Given the description of an element on the screen output the (x, y) to click on. 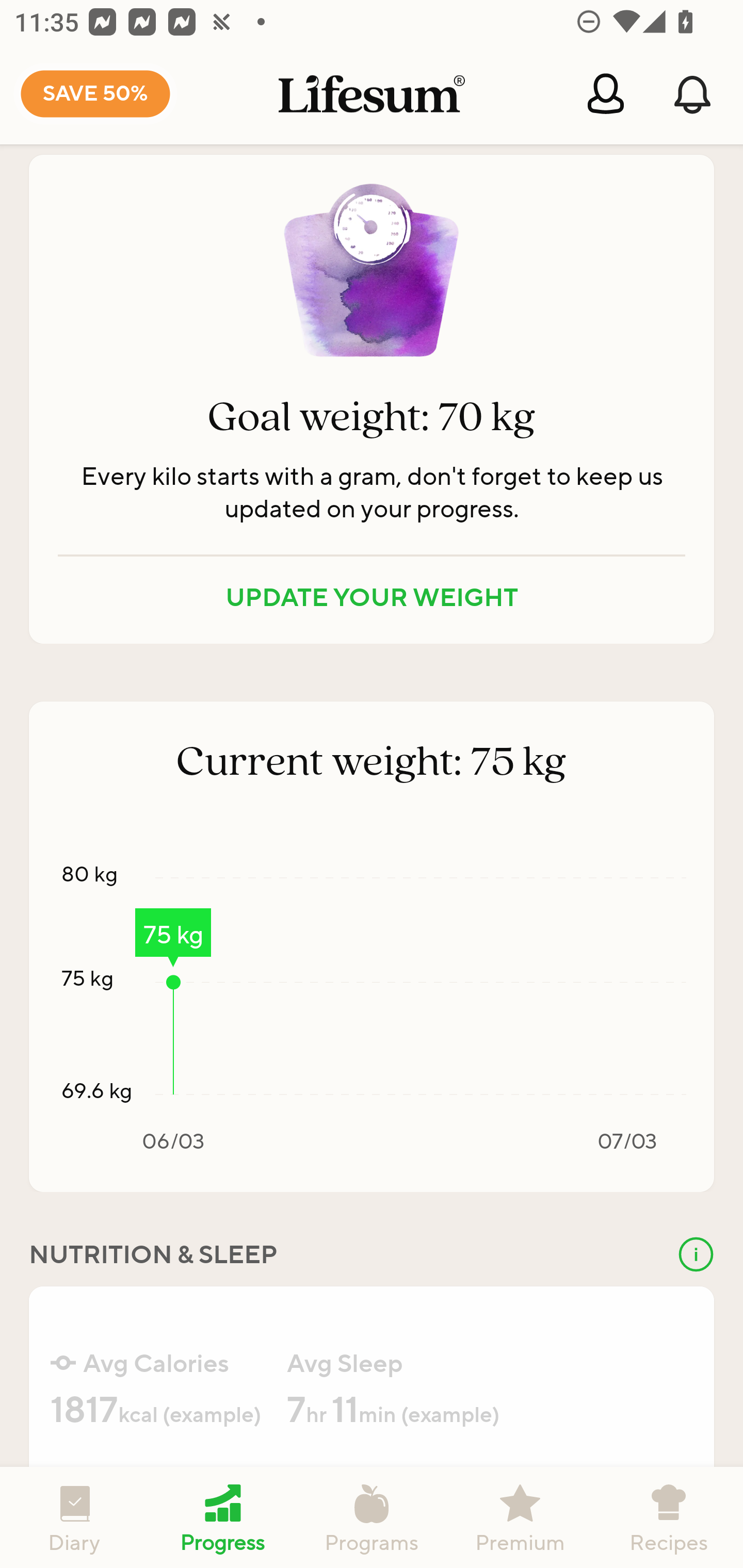
UPDATE YOUR WEIGHT (371, 596)
Diary (74, 1517)
Programs (371, 1517)
Premium (519, 1517)
Recipes (668, 1517)
